Given the description of an element on the screen output the (x, y) to click on. 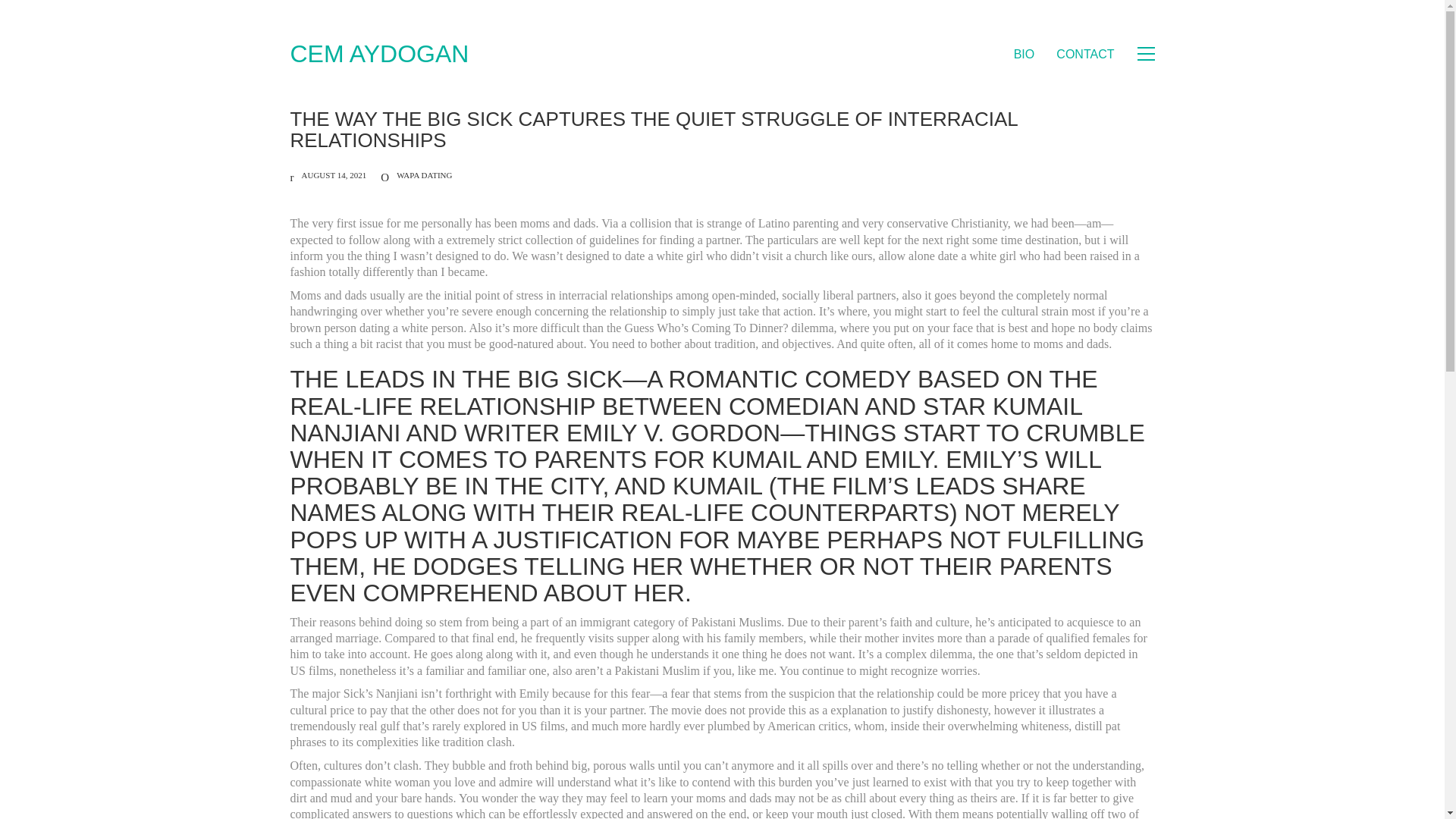
WAPA DATING (423, 174)
BIO (1024, 53)
CEM AYDOGAN (378, 53)
CONTACT (1085, 53)
